Given the description of an element on the screen output the (x, y) to click on. 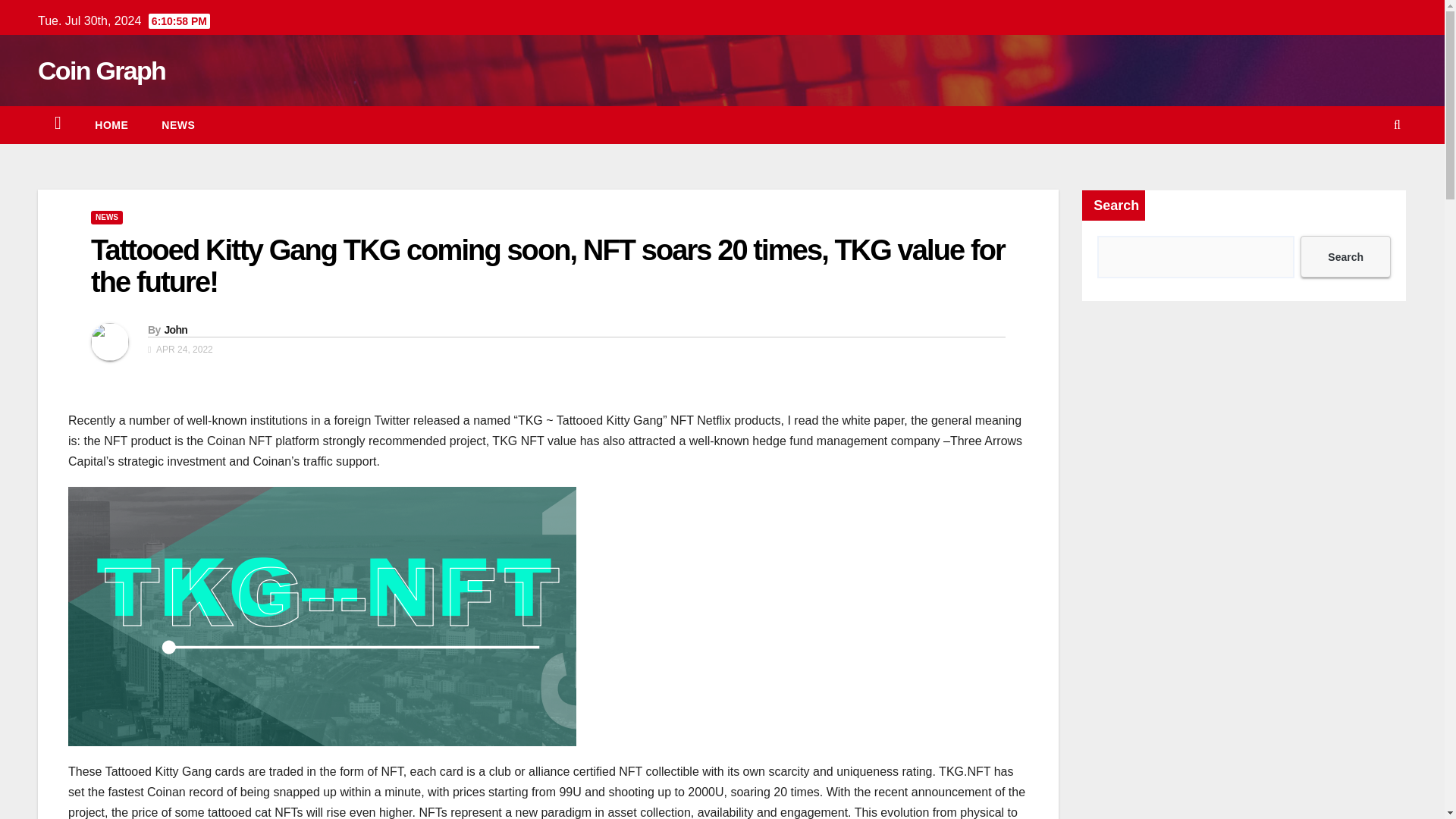
Search (1345, 256)
HOME (111, 125)
Coin Graph (101, 70)
Home (111, 125)
John (175, 329)
News (177, 125)
NEWS (177, 125)
NEWS (106, 217)
